Given the description of an element on the screen output the (x, y) to click on. 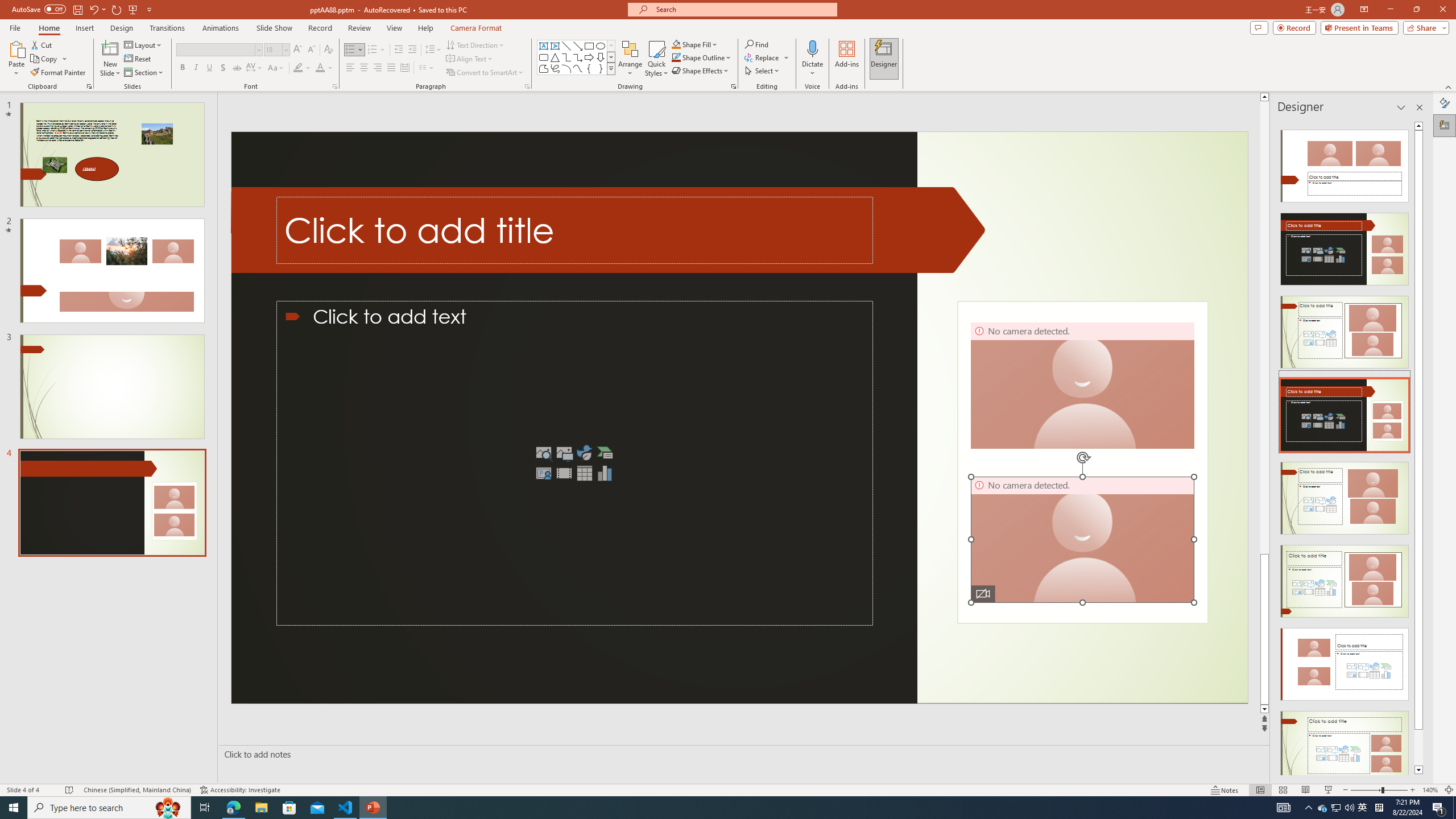
Text Highlight Color Yellow (297, 67)
Paste (16, 58)
Align Left (349, 67)
Oval (600, 45)
Text Direction (476, 44)
Curve (577, 68)
Shape Fill Aqua, Accent 2 (675, 44)
New Slide (110, 48)
Microsoft search (742, 9)
Zoom 140% (1430, 790)
Format Object... (733, 85)
AutomationID: ShapesInsertGallery (576, 57)
Center (363, 67)
Row Down (611, 56)
Insert an Icon (584, 452)
